Given the description of an element on the screen output the (x, y) to click on. 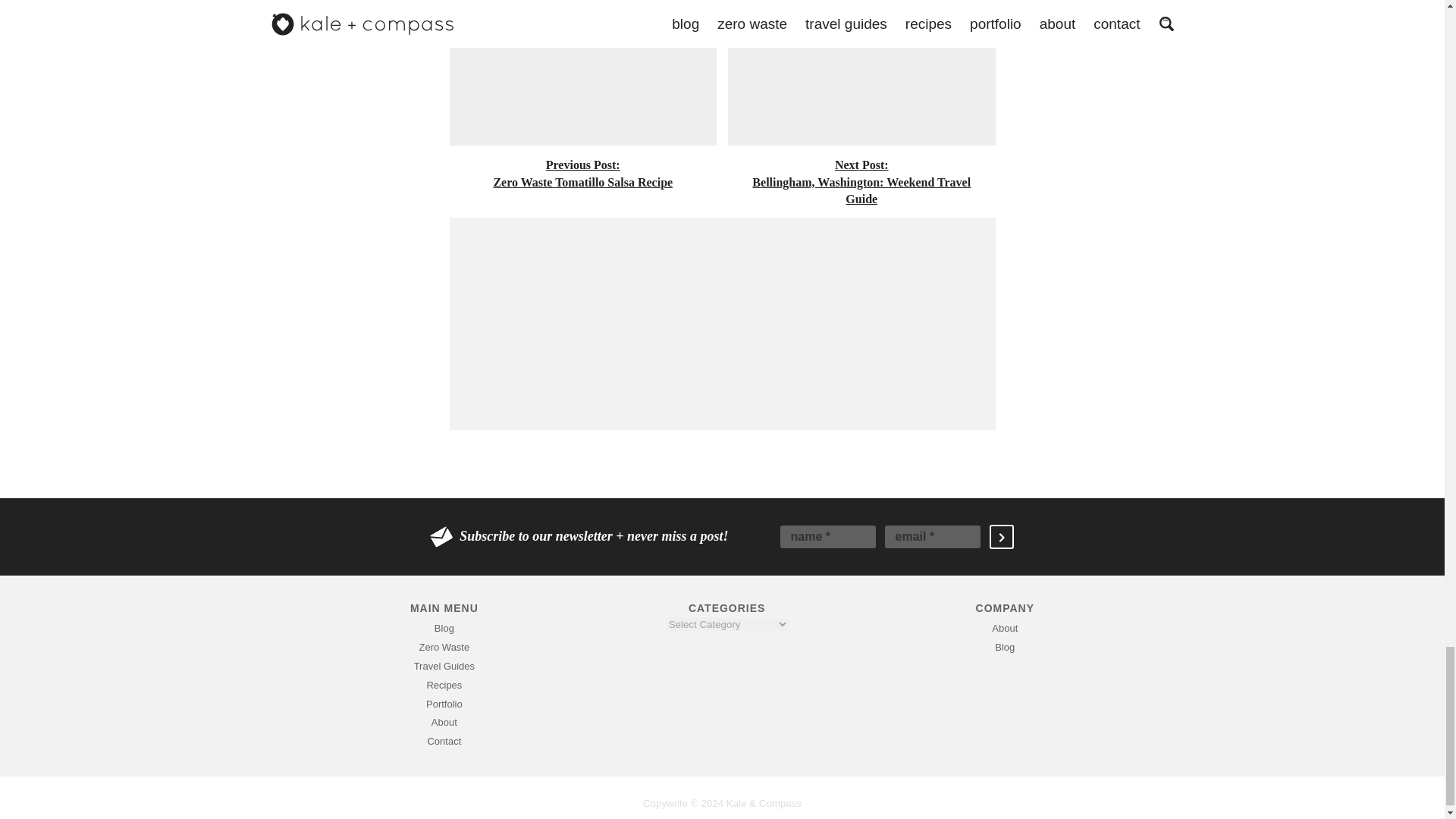
Blog (582, 95)
Portfolio (861, 104)
Recipes (443, 627)
Travel Guides (444, 704)
Zero Waste (443, 685)
